Given the description of an element on the screen output the (x, y) to click on. 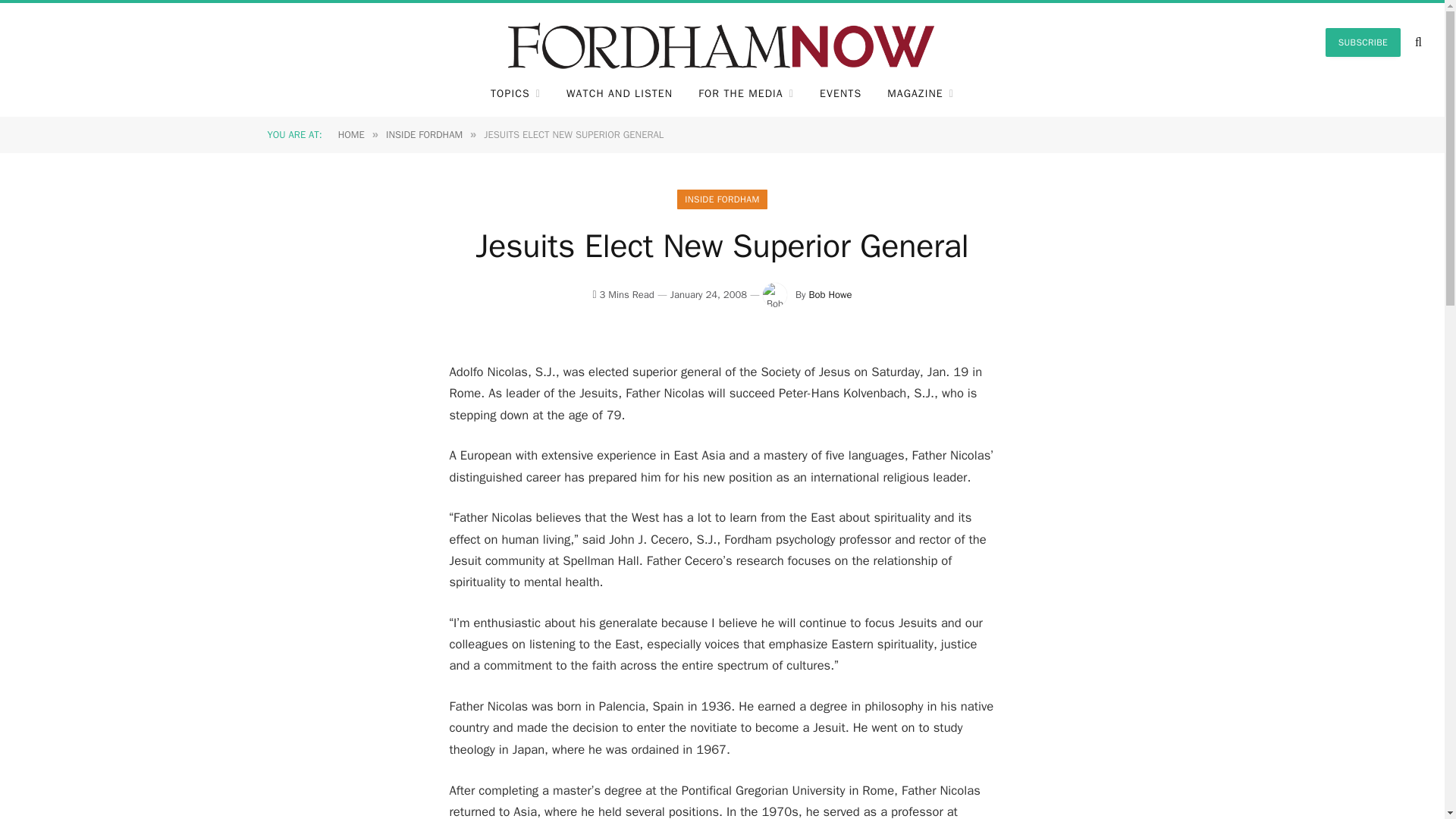
Fordham Now (722, 42)
INSIDE FORDHAM (722, 199)
WATCH AND LISTEN (619, 94)
FOR THE MEDIA (745, 94)
Bob Howe (829, 294)
HOME (351, 133)
SUBSCRIBE (1362, 41)
TOPICS (515, 94)
INSIDE FORDHAM (424, 133)
EVENTS (840, 94)
Posts by Bob Howe (829, 294)
MAGAZINE (920, 94)
